Given the description of an element on the screen output the (x, y) to click on. 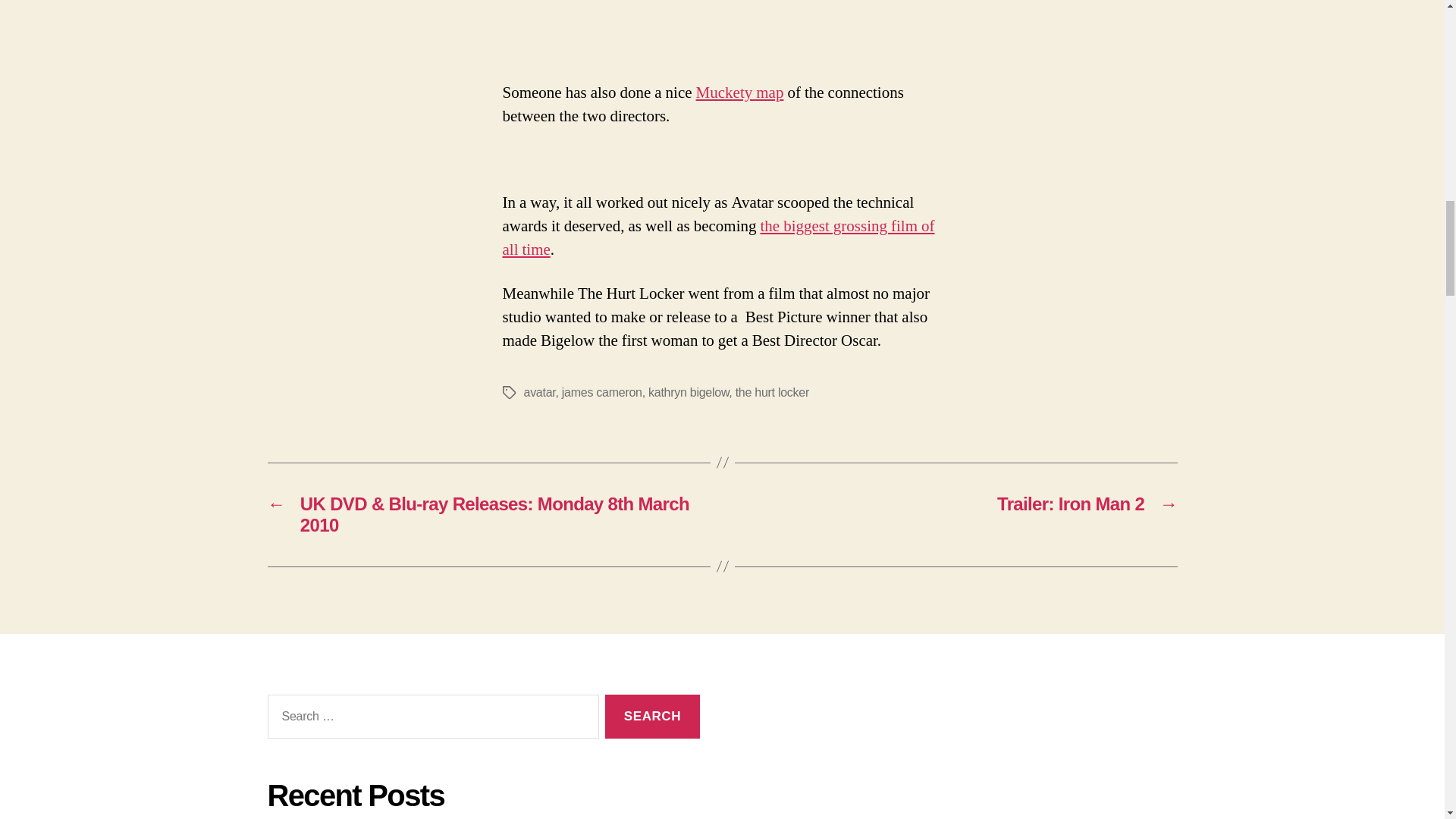
Muckety map (739, 92)
james cameron (602, 391)
kathryn bigelow (688, 391)
the biggest grossing film of all time (718, 238)
Search (651, 716)
Search (651, 716)
Search (651, 716)
the hurt locker (772, 391)
avatar (538, 391)
